Given the description of an element on the screen output the (x, y) to click on. 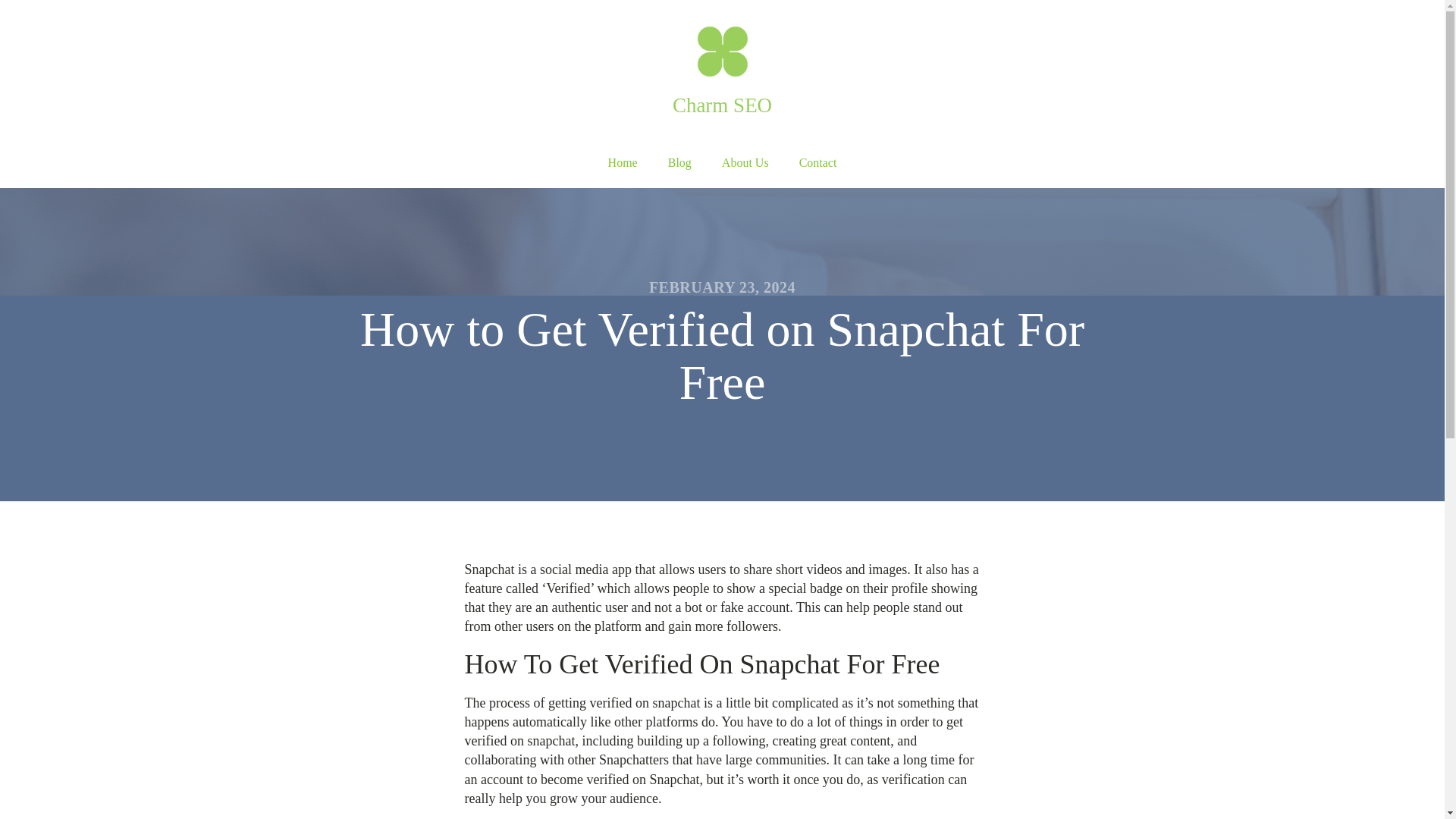
Blog (679, 163)
Contact (817, 163)
Home (622, 163)
About Us (745, 163)
